Given the description of an element on the screen output the (x, y) to click on. 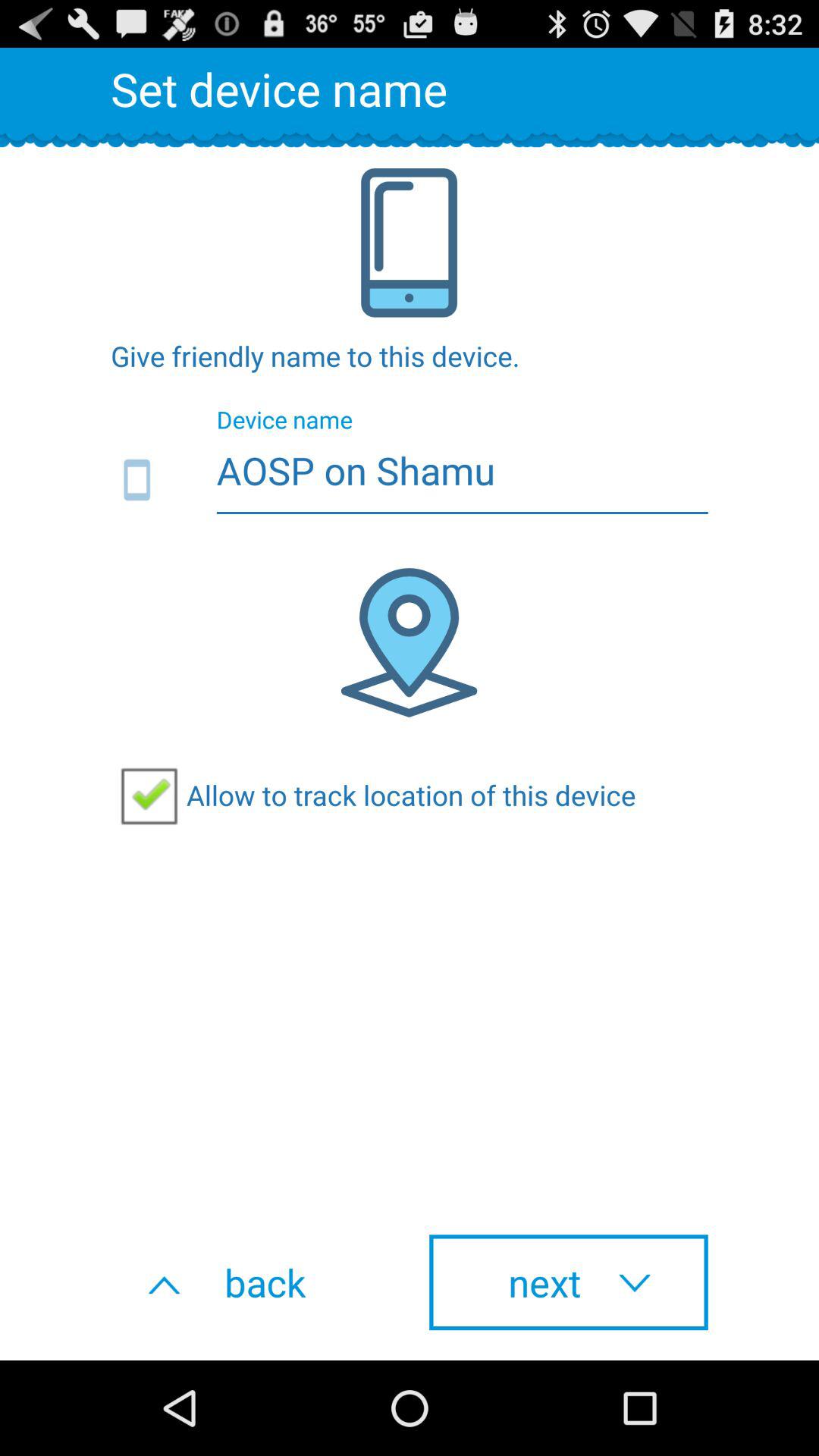
launch item above the back button (372, 794)
